Given the description of an element on the screen output the (x, y) to click on. 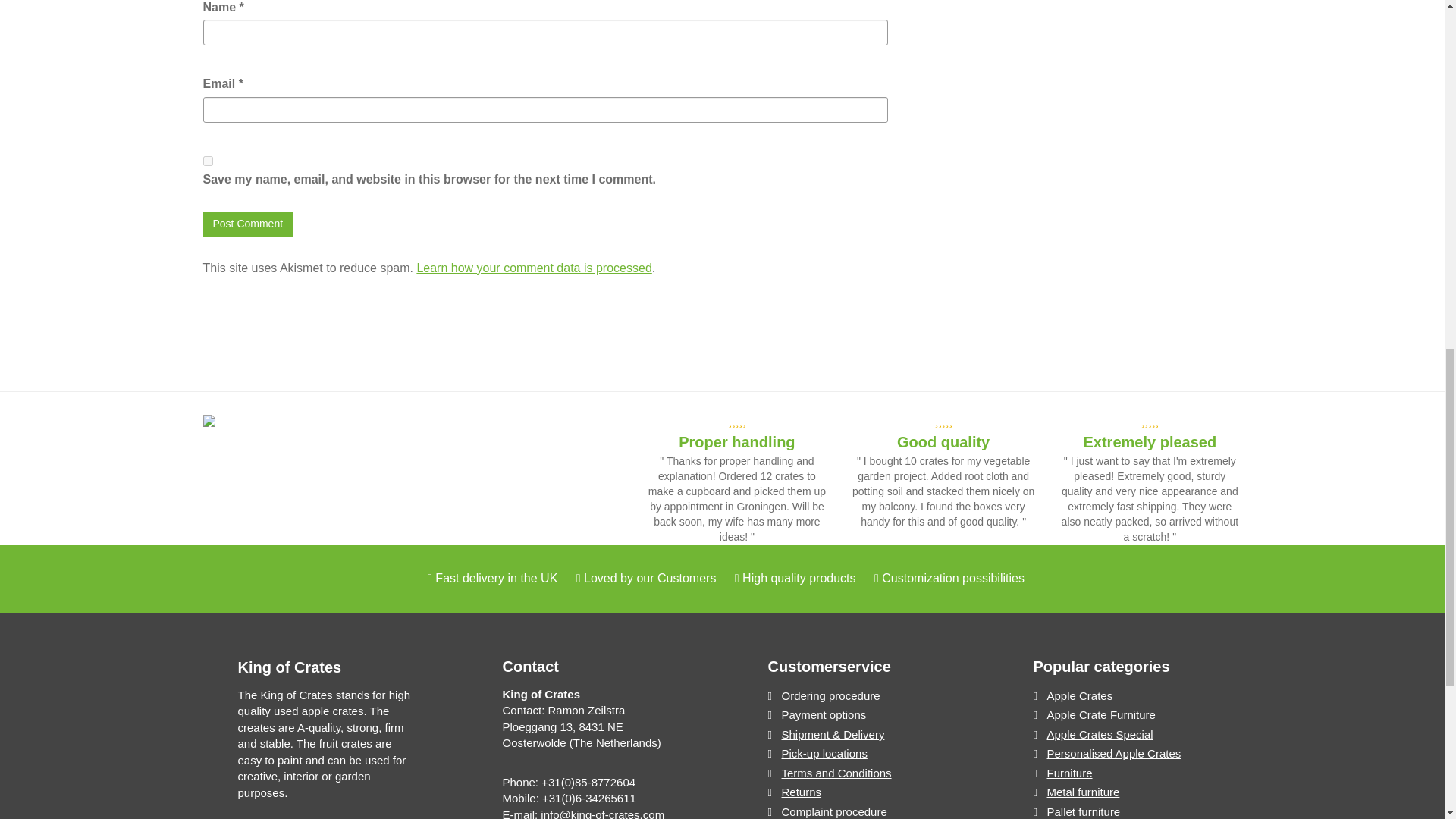
Terms and Conditions (861, 772)
Ordering procedure (861, 695)
Payment options (861, 714)
Complaint procedure (861, 810)
Pick-up locations (861, 752)
Learn how your comment data is processed (533, 267)
Post Comment (248, 224)
yes (207, 161)
Post Comment (248, 224)
Apple Crates (1126, 695)
Returns (861, 791)
